Given the description of an element on the screen output the (x, y) to click on. 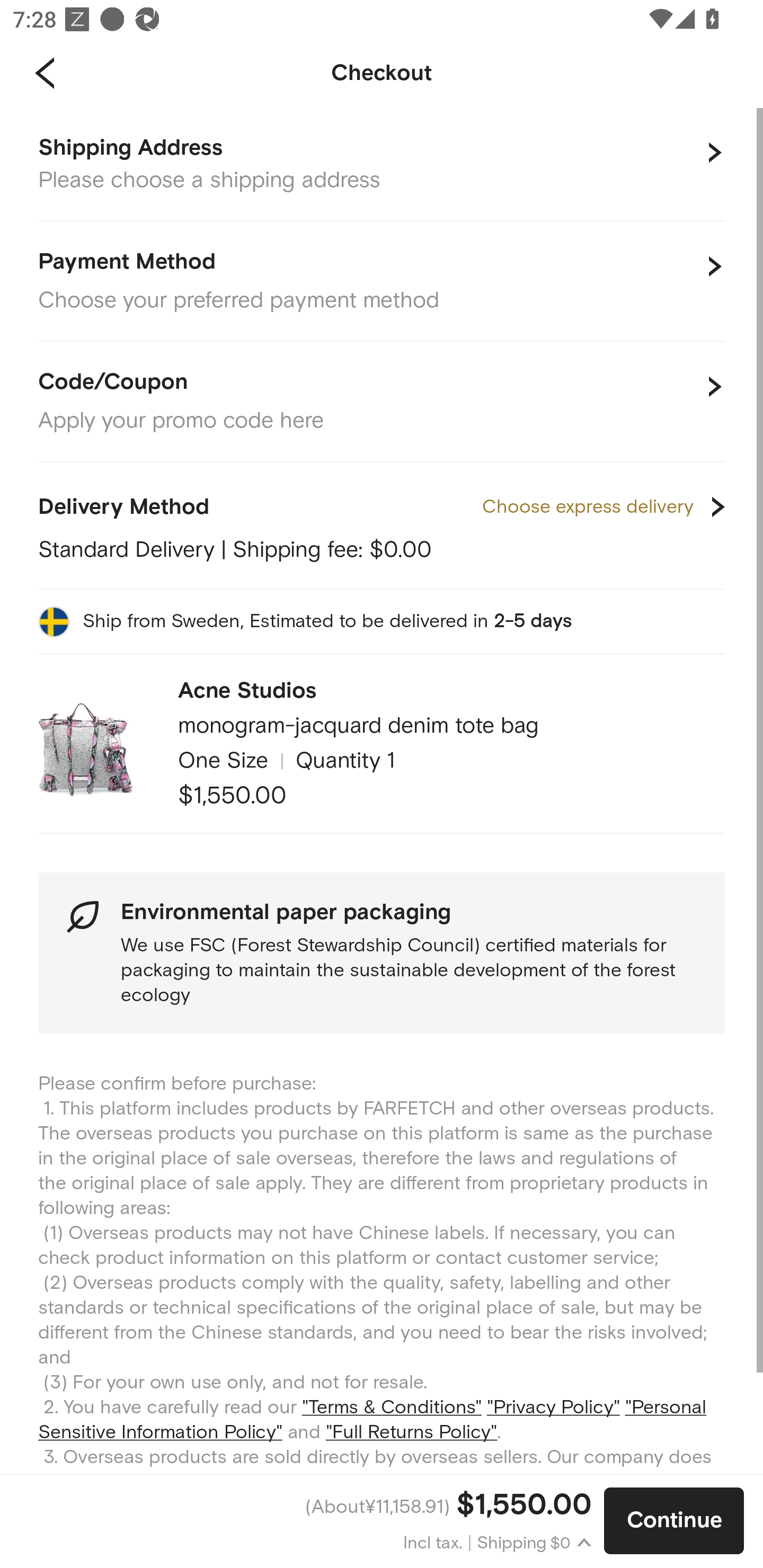
Shipping Address Please choose a shipping address (381, 165)
Code/Coupon Apply your promo code here (381, 401)
(About¥11,158.91) $1,550.00 Incl tax. Shipping $0 (302, 1520)
Continue (673, 1520)
